Given the description of an element on the screen output the (x, y) to click on. 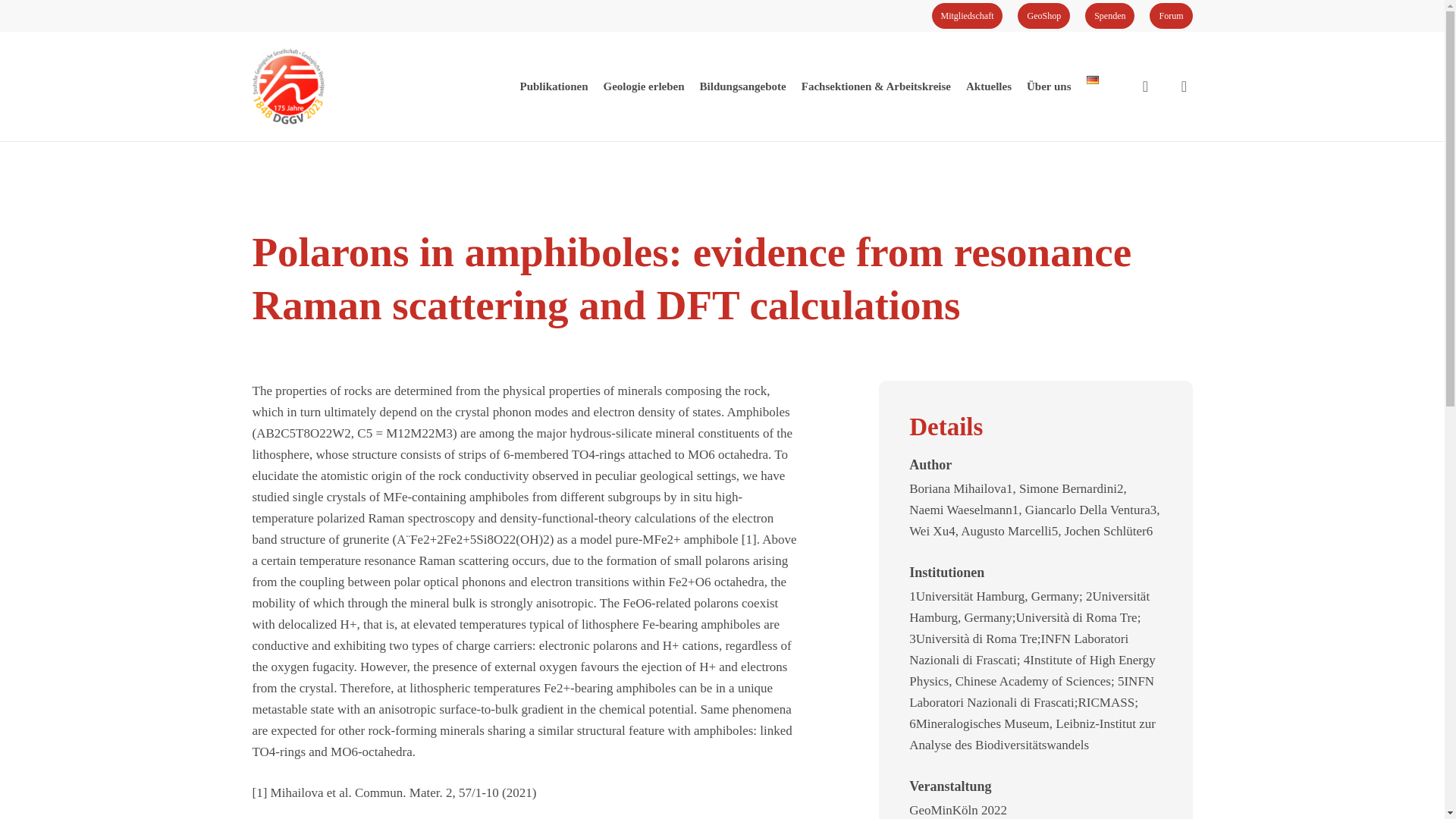
Publikationen (553, 86)
Spenden (1109, 15)
Geologie erleben (644, 86)
Aktuelles (988, 86)
Mitgliedschaft (967, 15)
GeoShop (1043, 15)
Forum (1171, 15)
Bildungsangebote (743, 86)
